Given the description of an element on the screen output the (x, y) to click on. 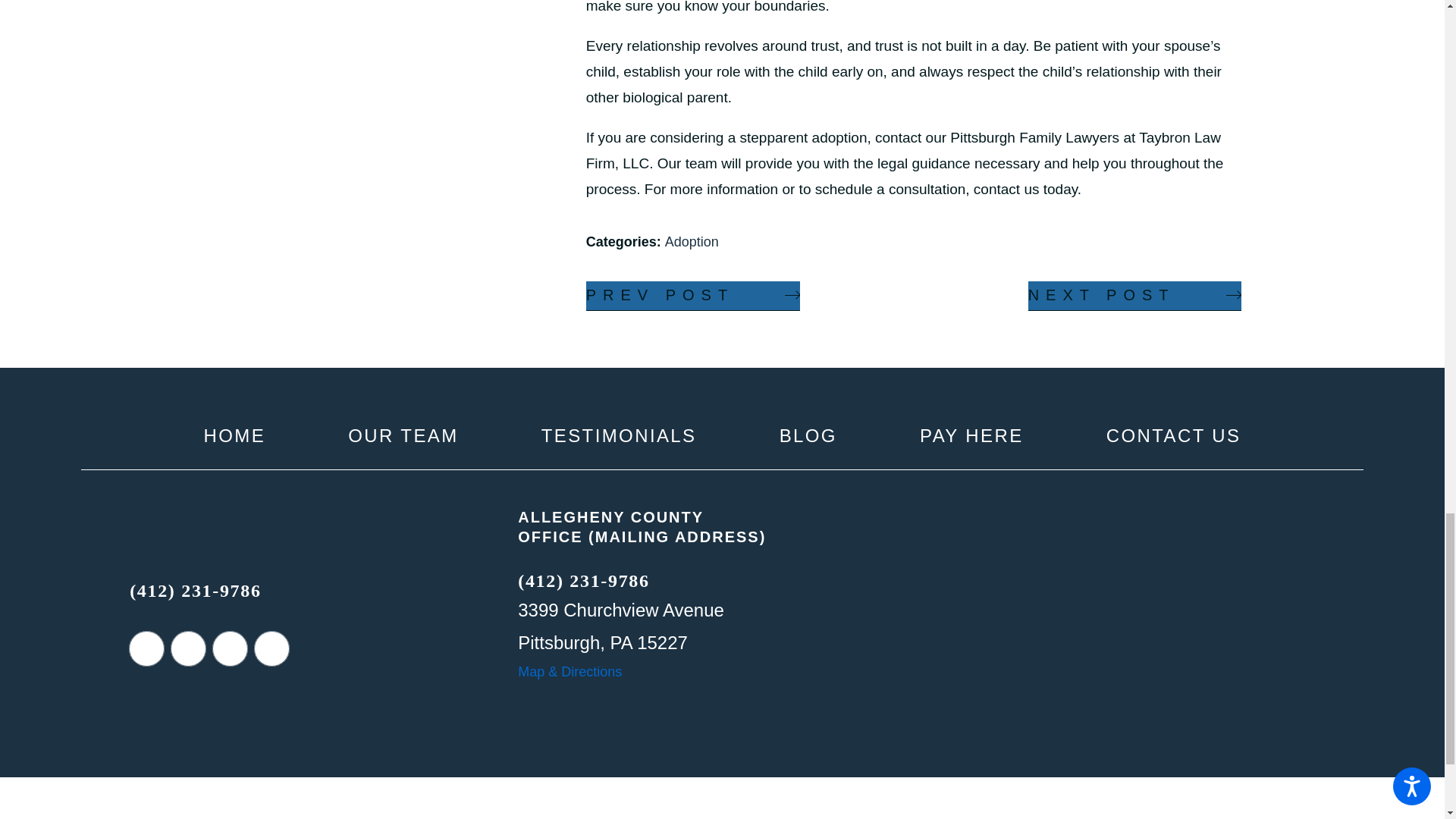
PREV POST (692, 296)
Facebook (146, 648)
Adoption (692, 241)
Avvo (229, 648)
Google Business Profile (271, 648)
LinkedIn (188, 648)
